Given the description of an element on the screen output the (x, y) to click on. 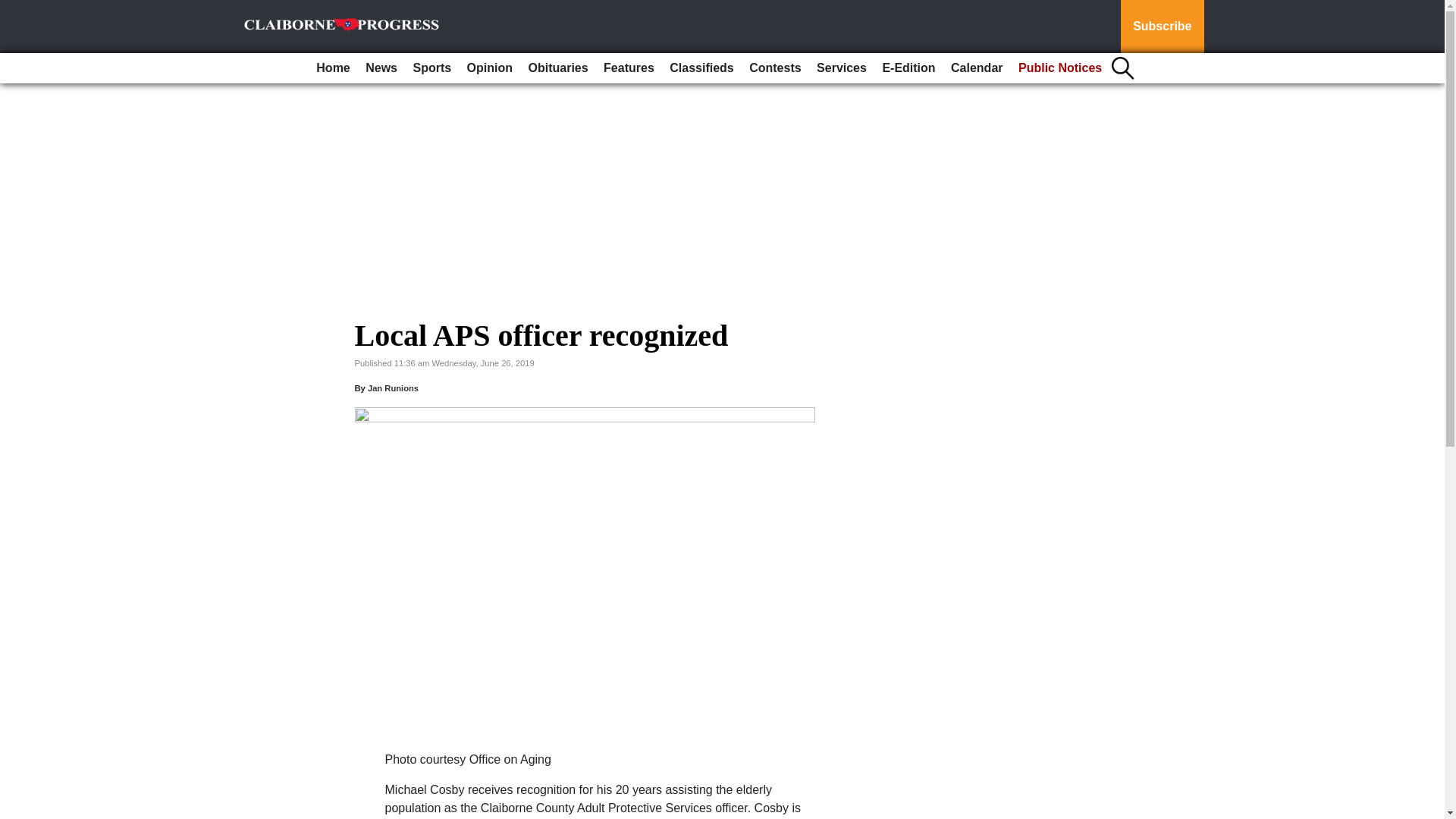
Contests (774, 68)
Obituaries (557, 68)
Opinion (489, 68)
Services (841, 68)
Home (332, 68)
Public Notices (1059, 68)
Classifieds (701, 68)
News (381, 68)
Sports (431, 68)
Jan Runions (393, 388)
